Given the description of an element on the screen output the (x, y) to click on. 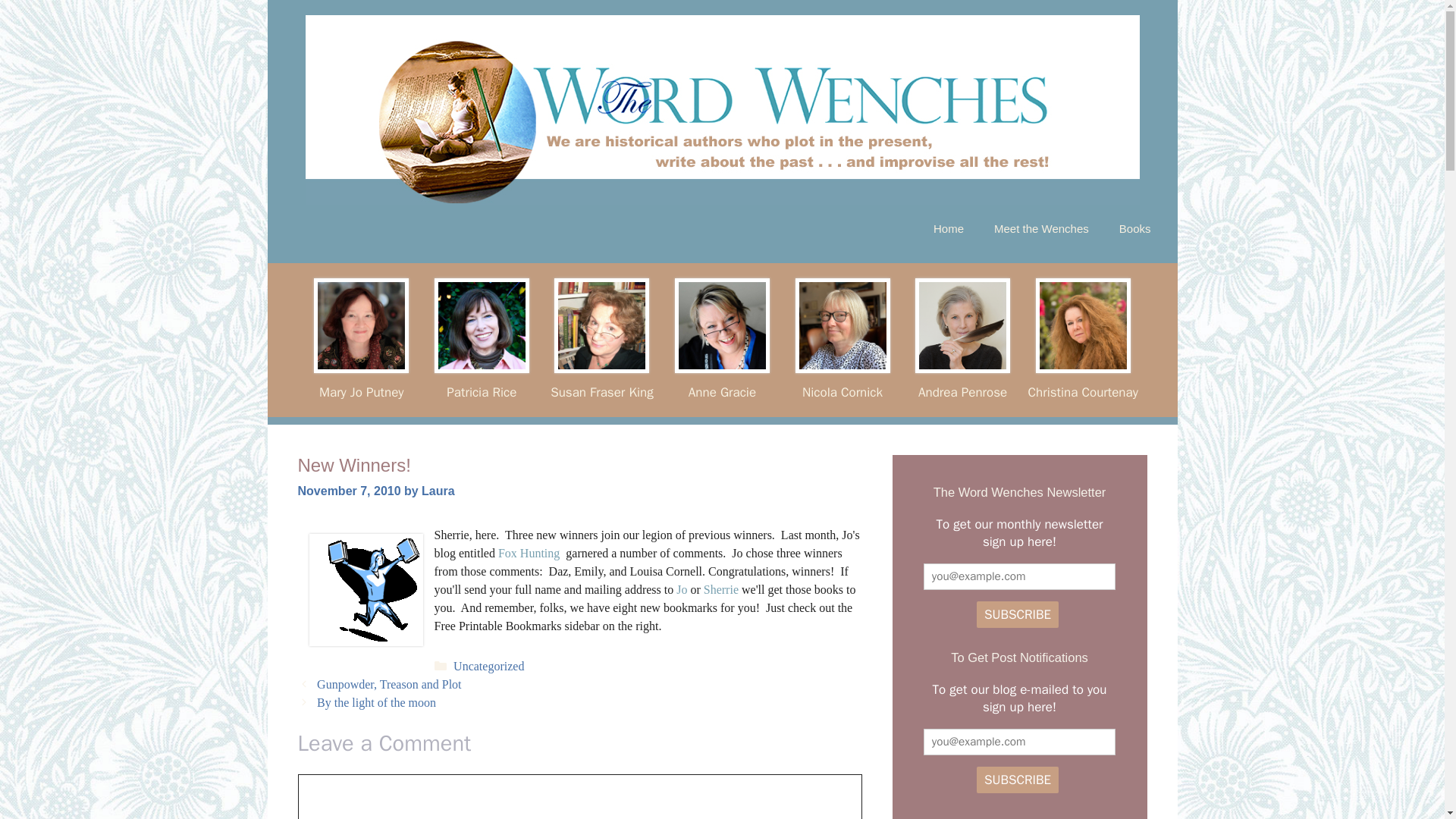
Andrea Penrose (962, 391)
Home (948, 228)
Uncategorized (488, 666)
Christina Courtenay (1082, 391)
Laura (438, 490)
Subscribe (1017, 614)
A-Winner (365, 589)
Patricia Rice (481, 391)
Susan Fraser King (601, 391)
Meet the Wenches (1040, 228)
Mary Jo Putney (360, 391)
By the light of the moon (376, 702)
Fox Hunting (529, 553)
Subscribe (1017, 614)
Subscribe (1017, 779)
